Given the description of an element on the screen output the (x, y) to click on. 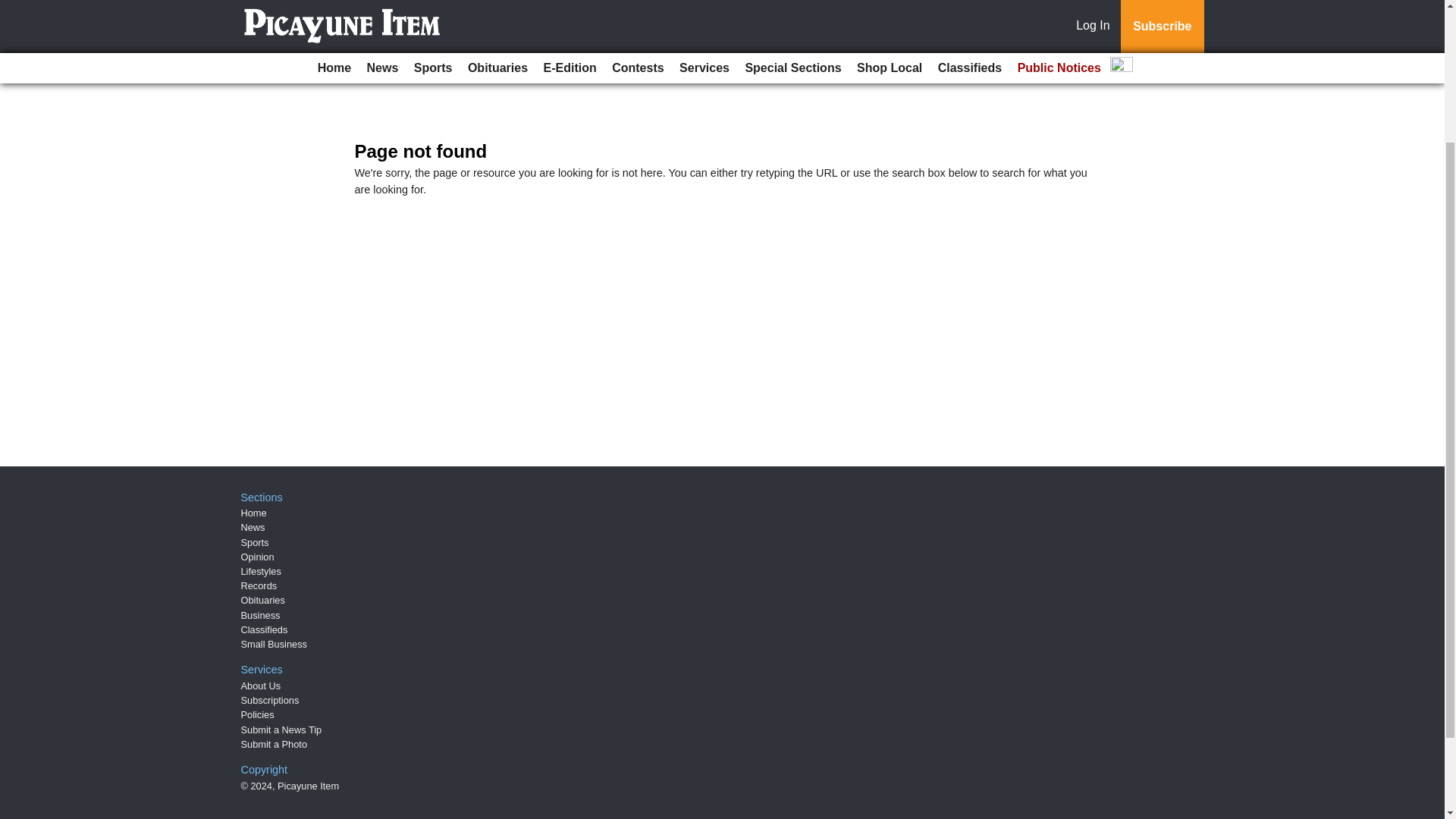
Opinion (258, 556)
Submit a News Tip (281, 729)
Records (259, 585)
About Us (261, 685)
News (252, 527)
Classifieds (264, 629)
Lifestyles (261, 571)
Home (253, 512)
Sports (255, 542)
Small Business (274, 644)
Business (261, 614)
Submit a Photo (274, 744)
Policies (258, 714)
Subscriptions (270, 699)
Obituaries (263, 600)
